Given the description of an element on the screen output the (x, y) to click on. 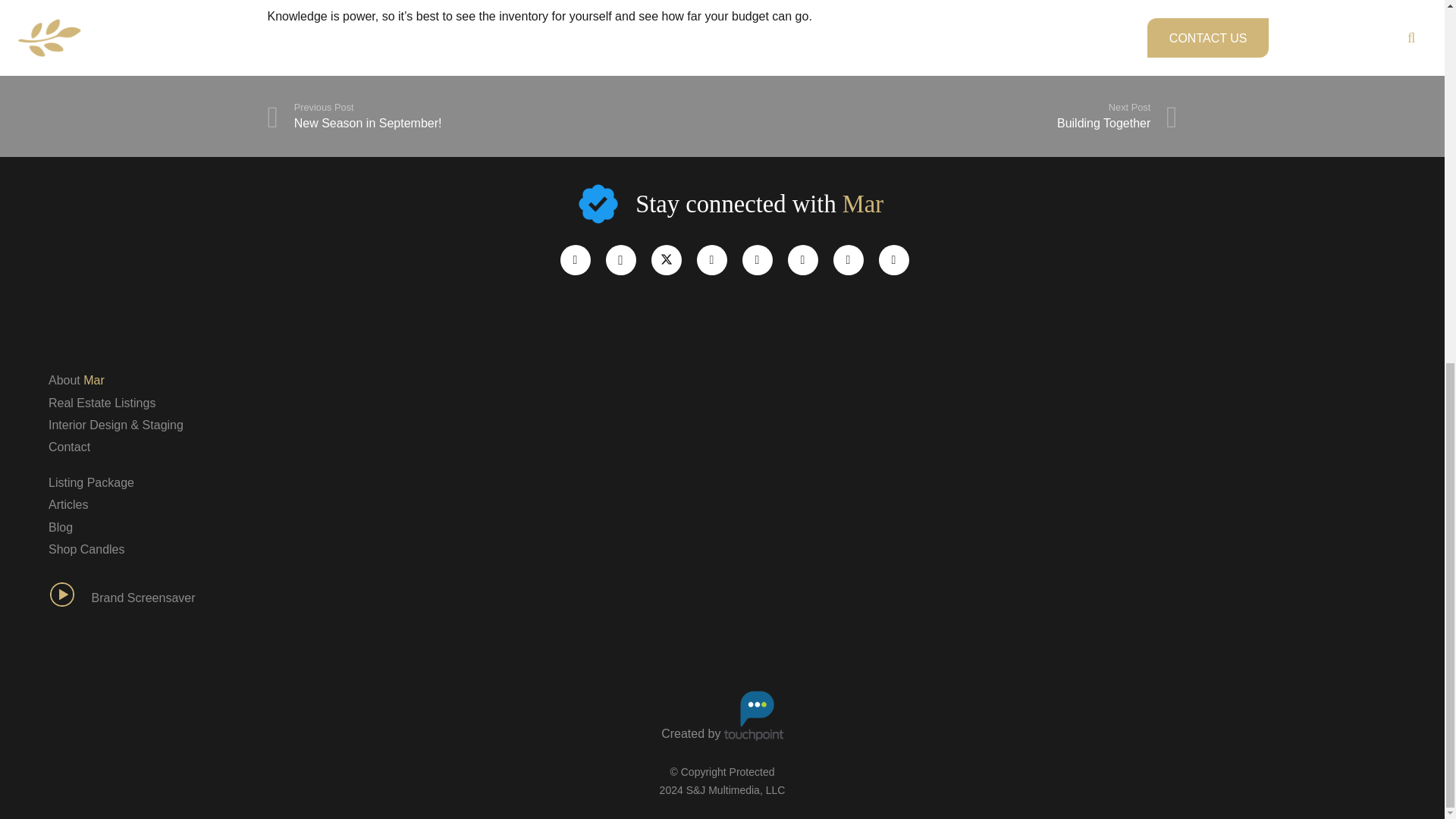
Pinterest (710, 259)
Instagram (619, 259)
YouTube (801, 259)
Brand Screensaver (494, 115)
Back to top (143, 598)
Contact (1413, 196)
Articles (69, 446)
Building Together (67, 504)
Brand Screensaver (949, 115)
Real Estate Listings (69, 597)
Facebook (101, 402)
Shop Candles (574, 259)
About Mar (86, 549)
Houzz (76, 379)
